Given the description of an element on the screen output the (x, y) to click on. 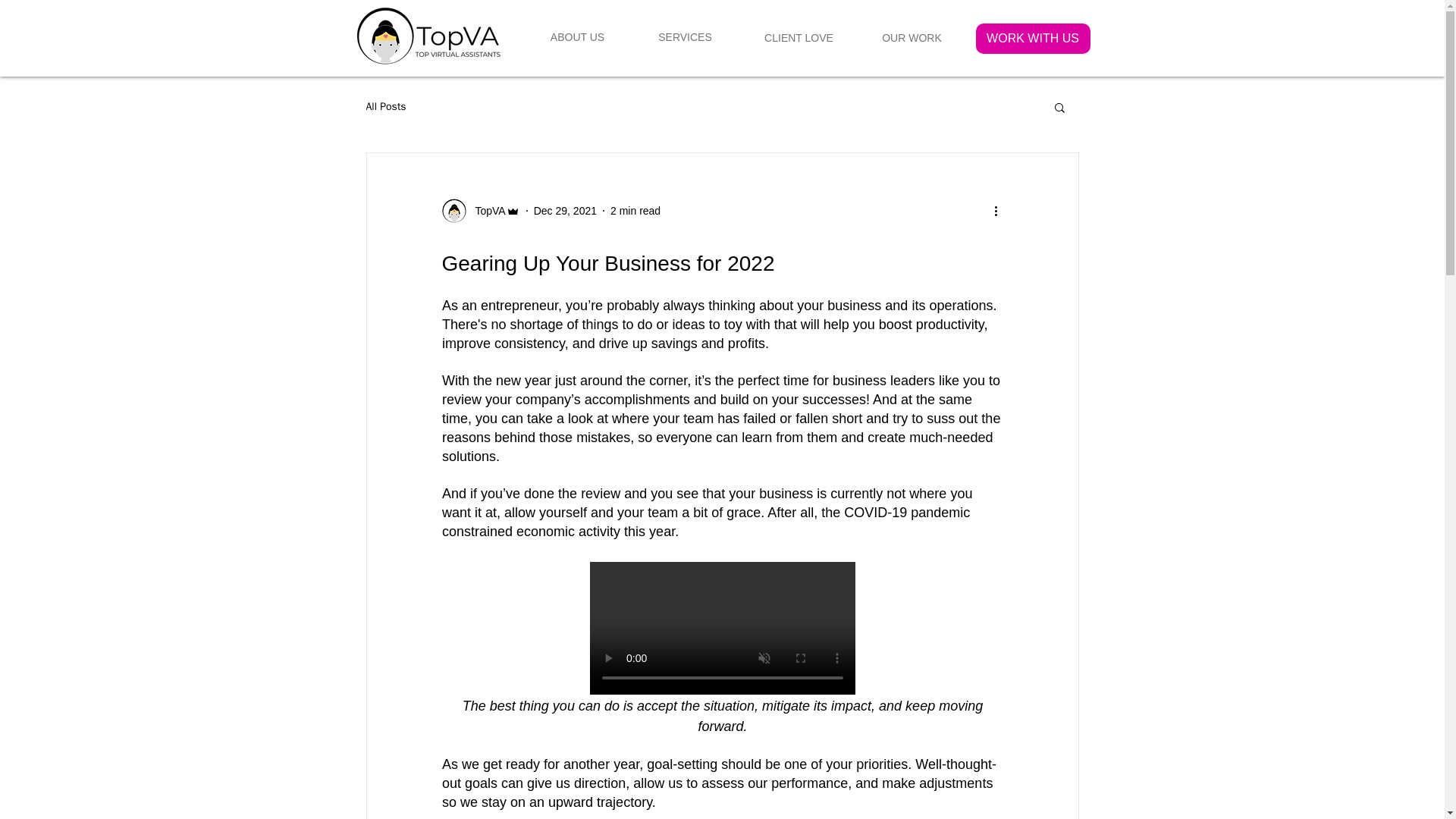
SERVICES (684, 37)
WORK WITH US (1032, 38)
All Posts (385, 106)
CLIENT LOVE (798, 38)
TopVA (485, 211)
OUR WORK (912, 38)
2 min read (635, 210)
TopVA (480, 210)
ABOUT US (576, 37)
Dec 29, 2021 (565, 210)
